Given the description of an element on the screen output the (x, y) to click on. 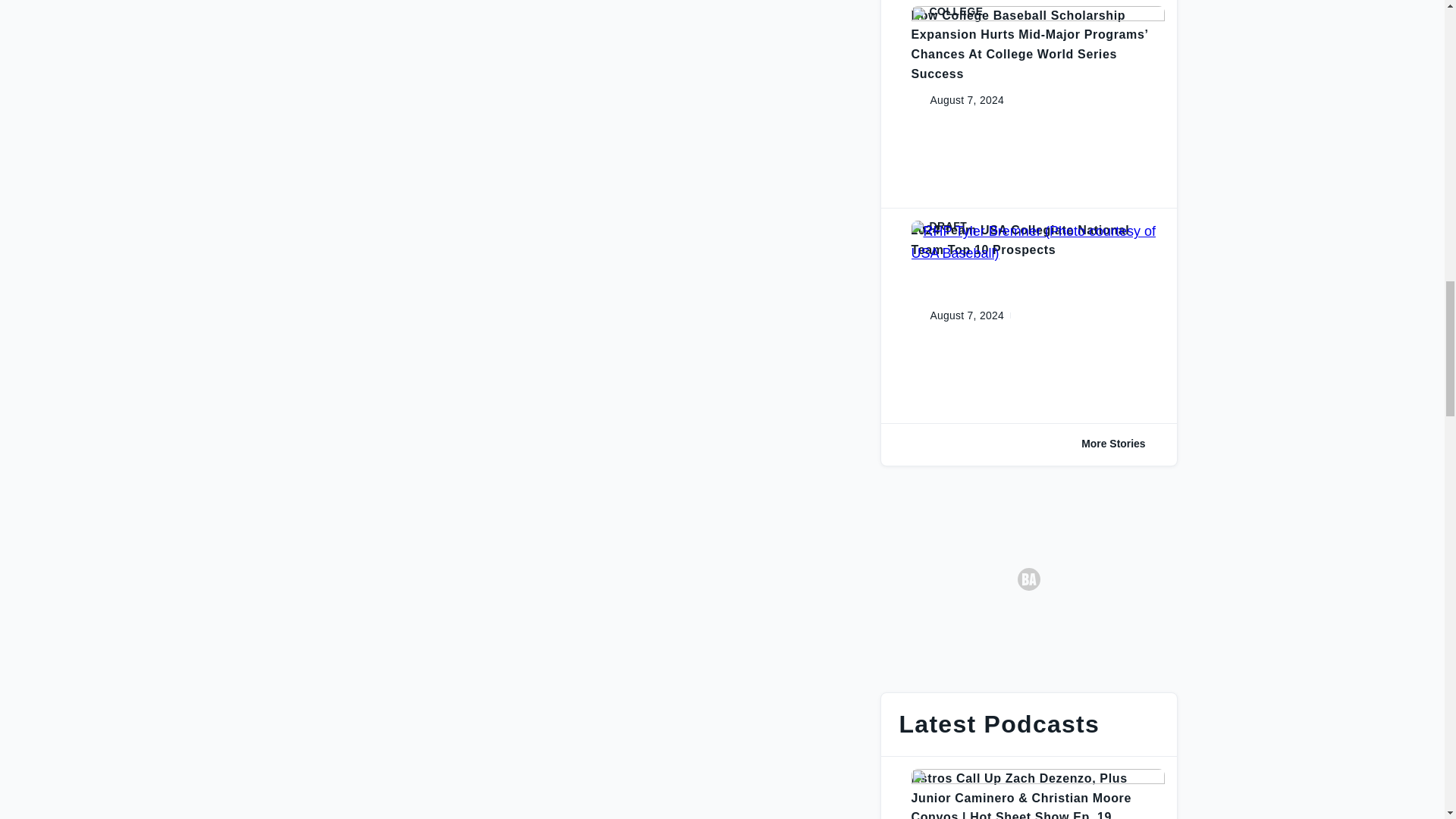
Post date (954, 100)
Post date (954, 315)
Post category (1037, 225)
Post category (1037, 11)
